Given the description of an element on the screen output the (x, y) to click on. 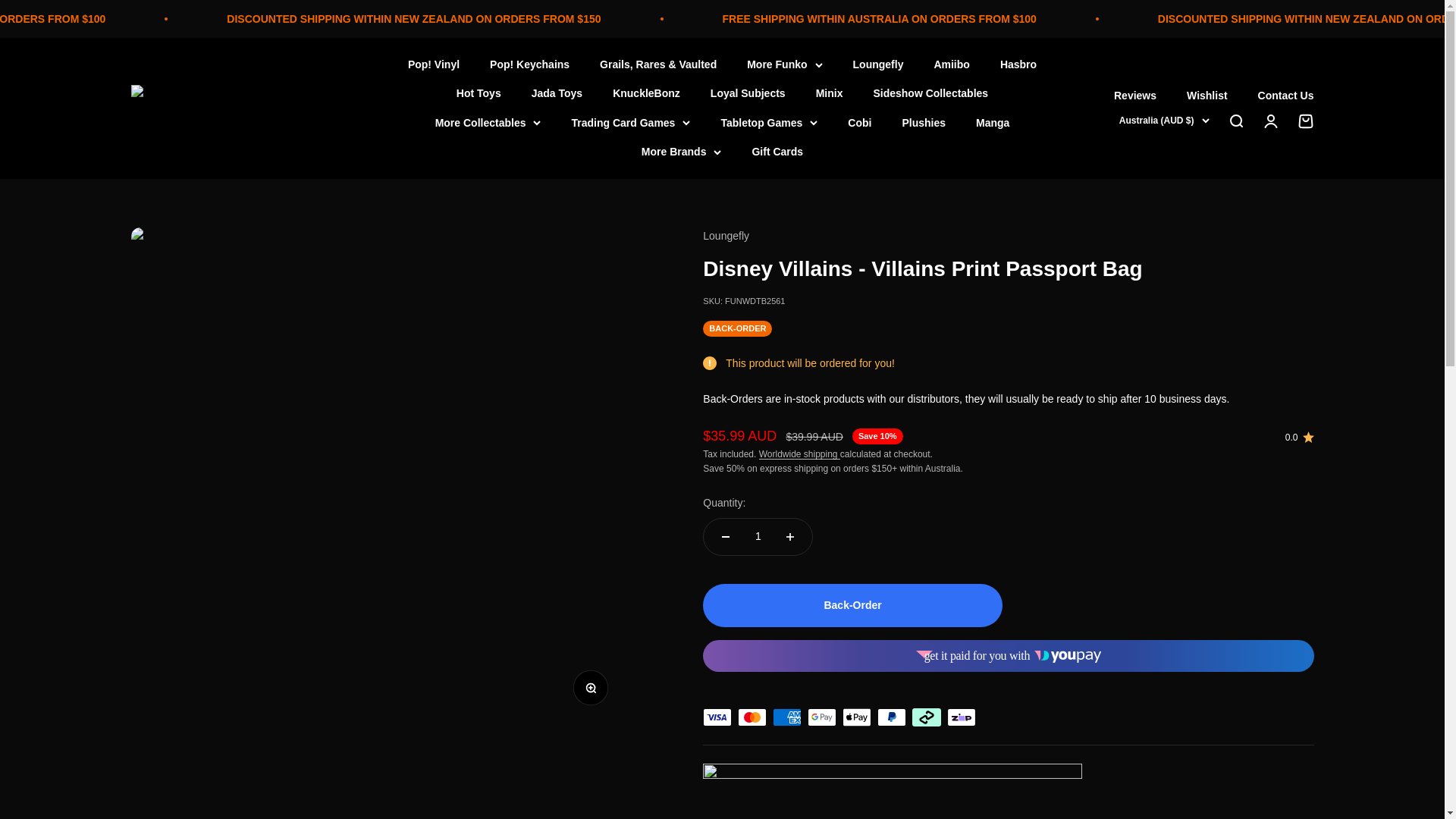
No reviews (1299, 437)
Pop! Vinyl (433, 64)
Pop! Keychains (529, 64)
